Given the description of an element on the screen output the (x, y) to click on. 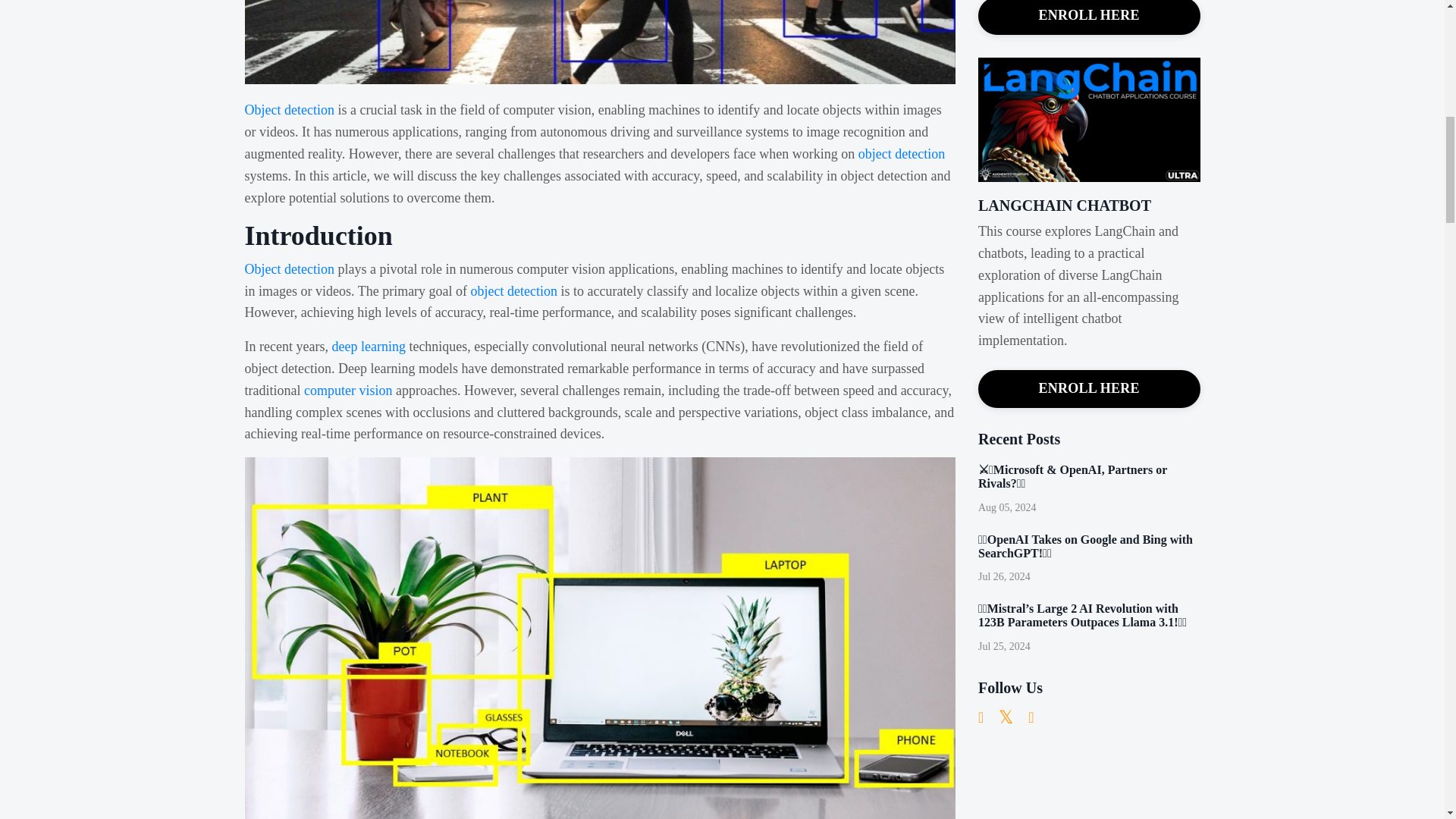
Object detection (288, 109)
object detection (901, 153)
computer vision (347, 390)
deep learning (367, 346)
Object detection (288, 268)
object detection (513, 290)
